Given the description of an element on the screen output the (x, y) to click on. 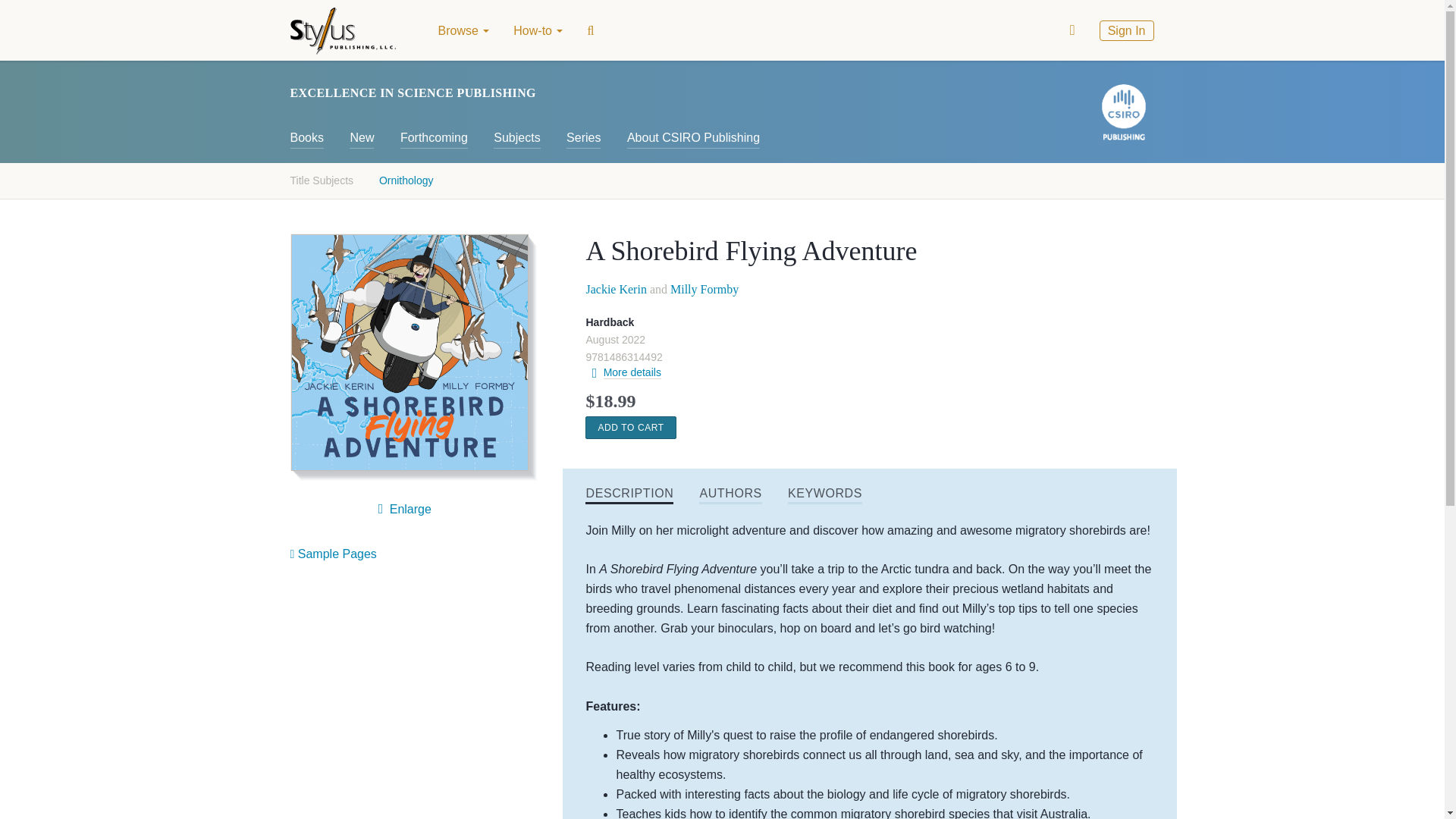
Jackie Kerin (615, 288)
 Sample Pages (332, 554)
Series (582, 136)
Browse (464, 30)
Subjects (516, 136)
Forthcoming (433, 136)
ADD TO CART (630, 427)
Browse CSIRO Publishing Book Catalog (306, 136)
DESCRIPTION (629, 494)
Ornithology (405, 180)
